Given the description of an element on the screen output the (x, y) to click on. 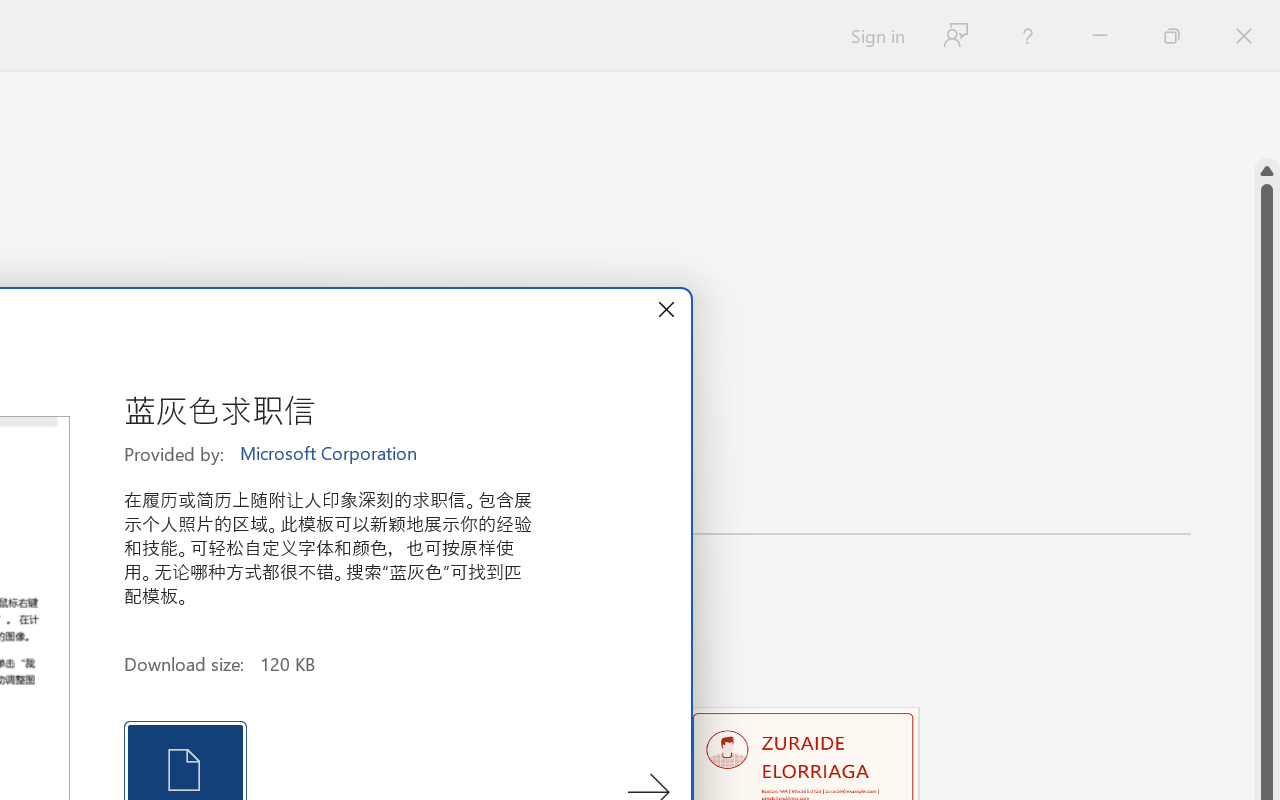
Chrome Web Store - Color themes by Chrome (173, 22)
Open account menu (1228, 132)
Settings - System (901, 22)
New Tab (797, 22)
Google (68, 22)
